Given the description of an element on the screen output the (x, y) to click on. 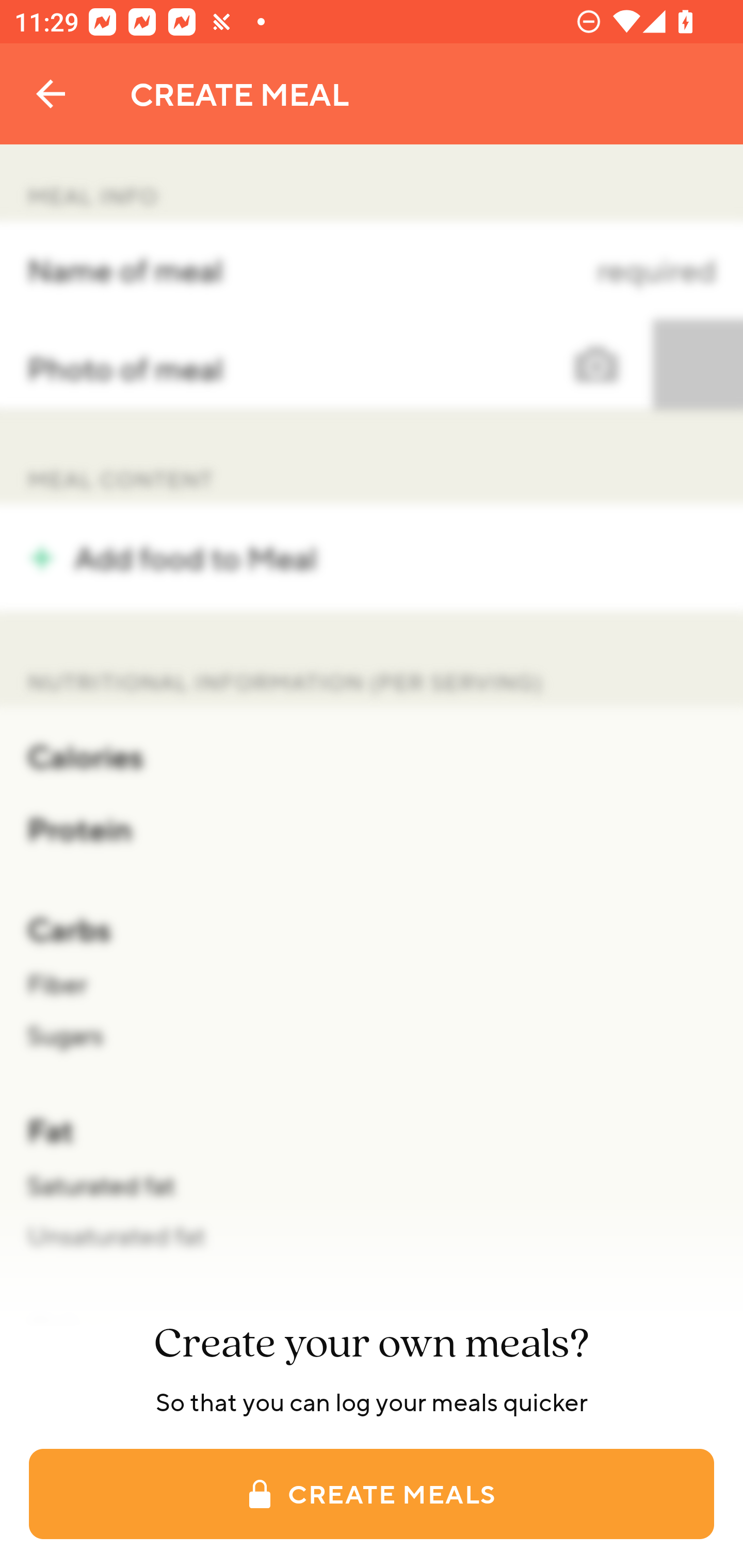
required (543, 270)
Photo of meal (371, 364)
Add food to Meal (371, 557)
CREATE MEALS (371, 1493)
